Given the description of an element on the screen output the (x, y) to click on. 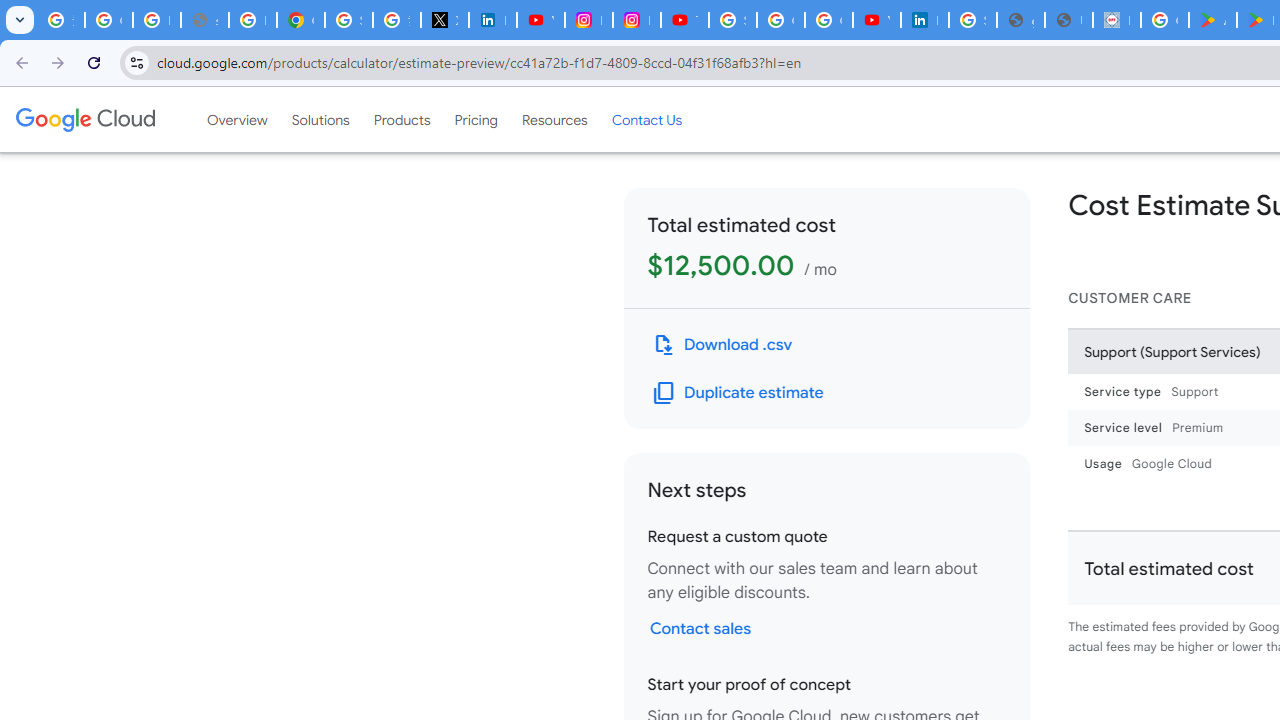
Sign in - Google Accounts (972, 20)
google_privacy_policy_en.pdf (1020, 20)
Products (401, 119)
User Details (1068, 20)
Download .csv file (722, 344)
Data Privacy Framework (1116, 20)
X (444, 20)
Duplicate this estimate (738, 392)
